Given the description of an element on the screen output the (x, y) to click on. 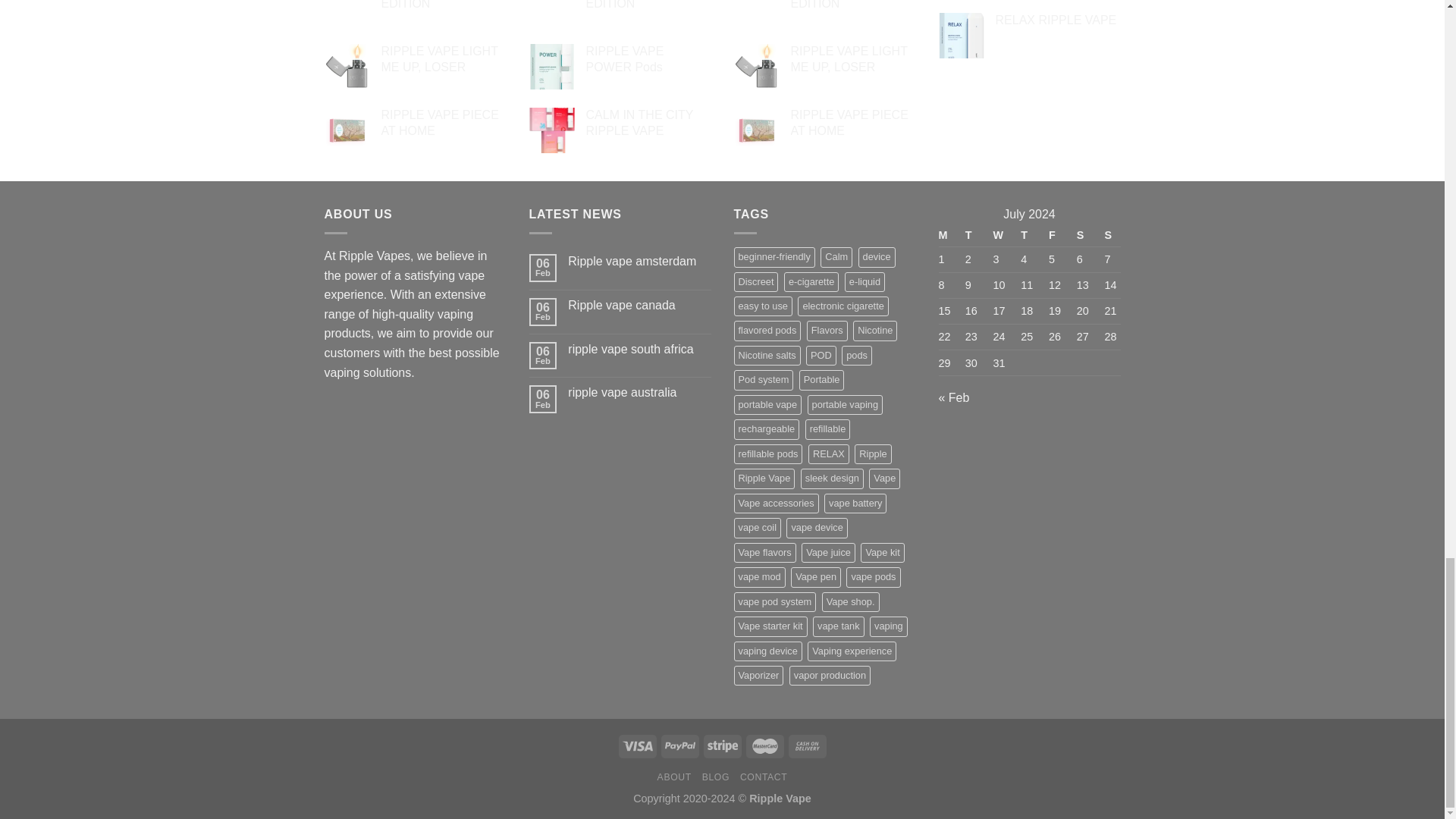
Ripple vape canada (638, 305)
ripple vape south africa (638, 349)
Ripple vape amsterdam (638, 260)
